Given the description of an element on the screen output the (x, y) to click on. 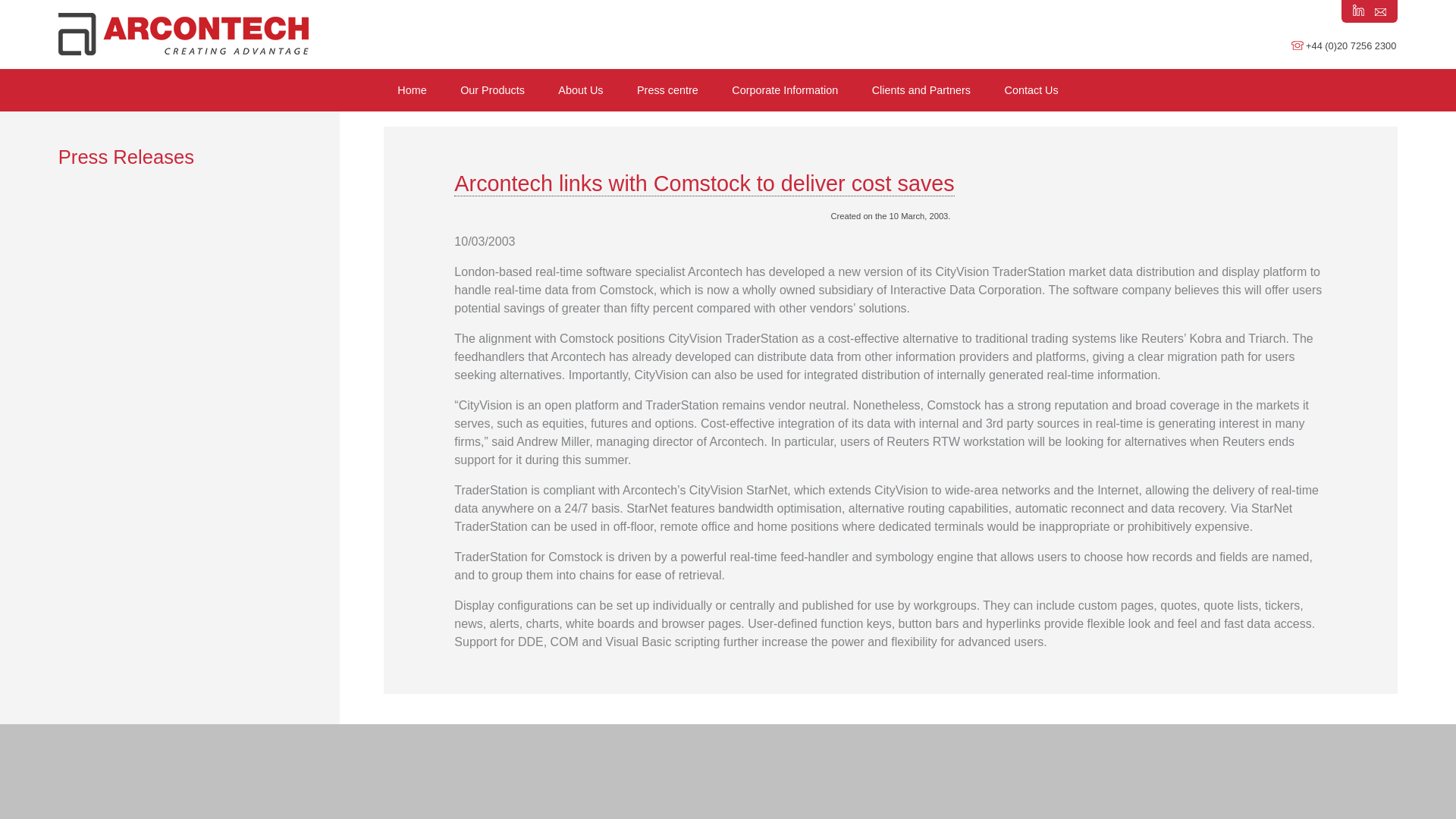
Corporate Information (784, 89)
Press centre (667, 89)
Home (411, 89)
Our Products (492, 89)
About Us (580, 89)
